Given the description of an element on the screen output the (x, y) to click on. 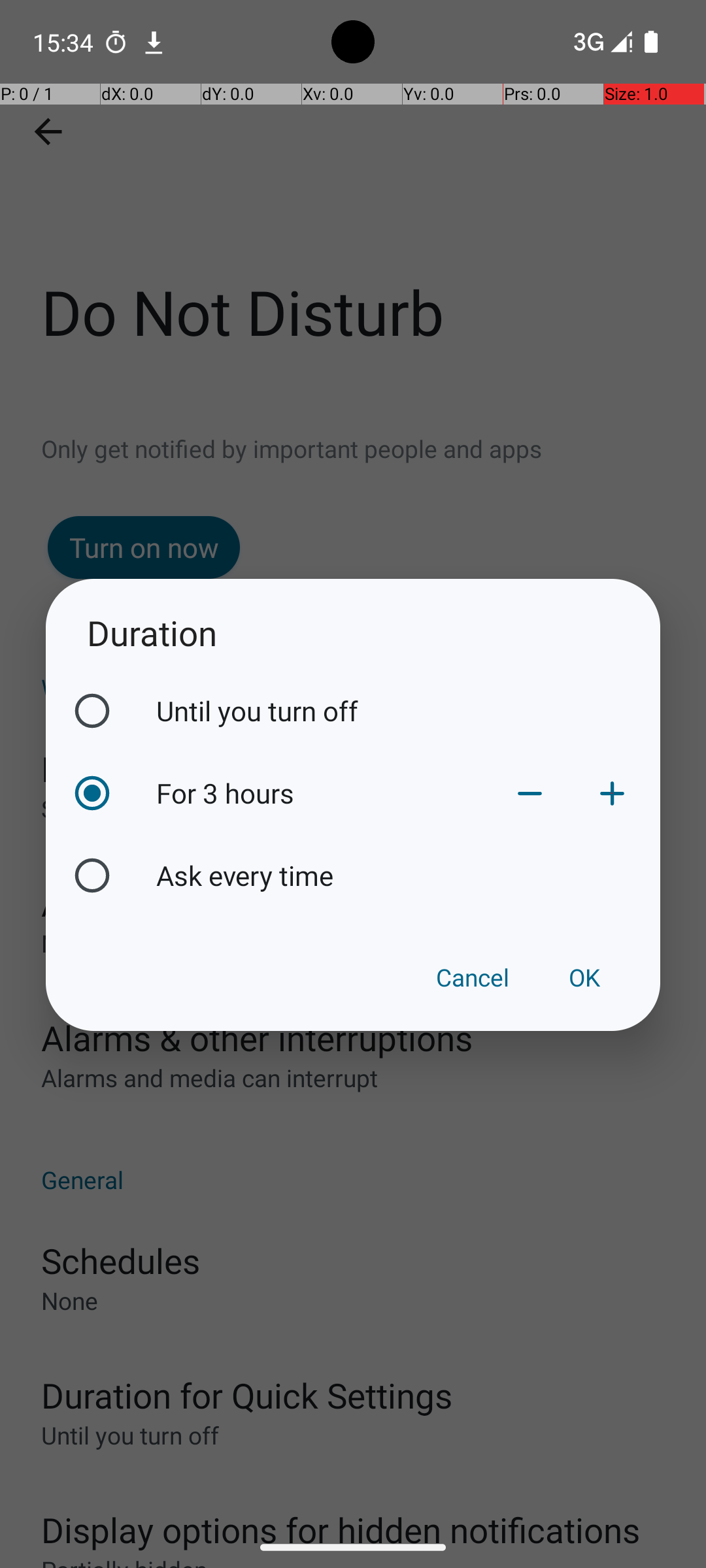
Duration Element type: android.widget.TextView (352, 632)
Less time. Element type: android.widget.ImageView (529, 792)
More time. Element type: android.widget.ImageView (611, 792)
For 3 hours Element type: android.widget.TextView (322, 792)
Ask every time Element type: android.widget.TextView (404, 874)
